Given the description of an element on the screen output the (x, y) to click on. 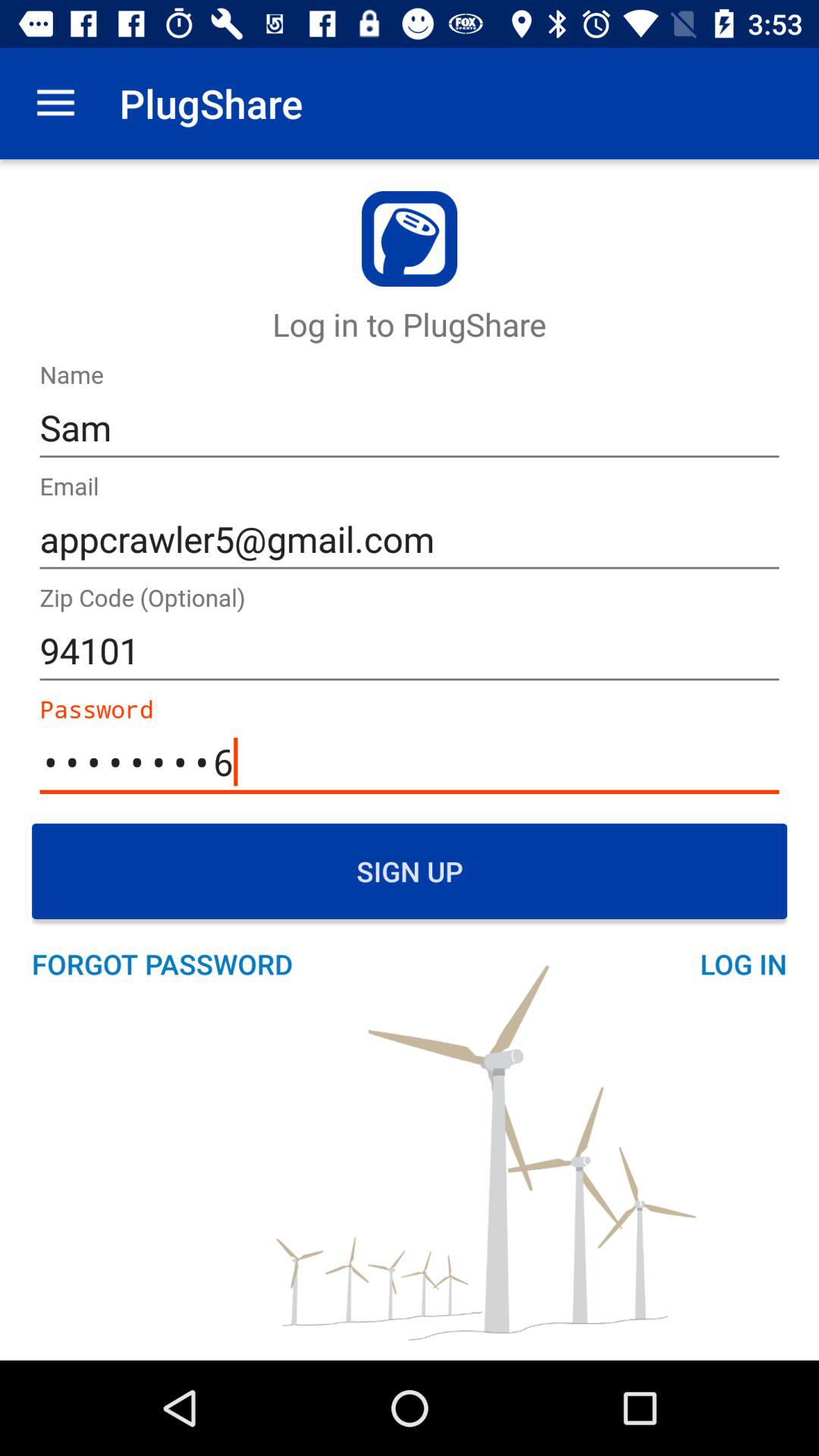
turn on the icon above the log in to item (55, 103)
